Given the description of an element on the screen output the (x, y) to click on. 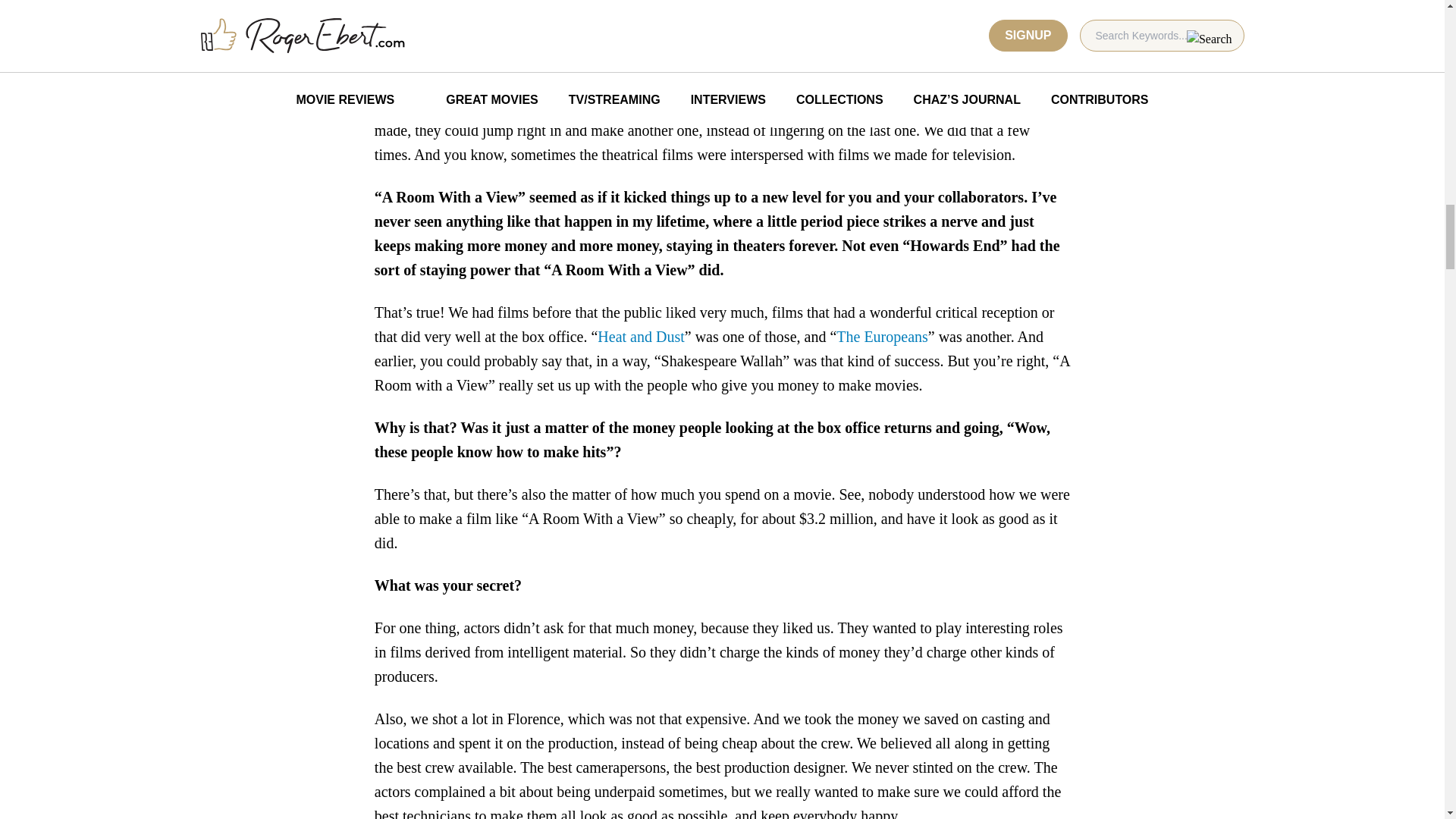
Nicholas Ray (958, 63)
The Europeans (881, 336)
Jean-Luc Godard (679, 63)
Heat and Dust (640, 336)
